Given the description of an element on the screen output the (x, y) to click on. 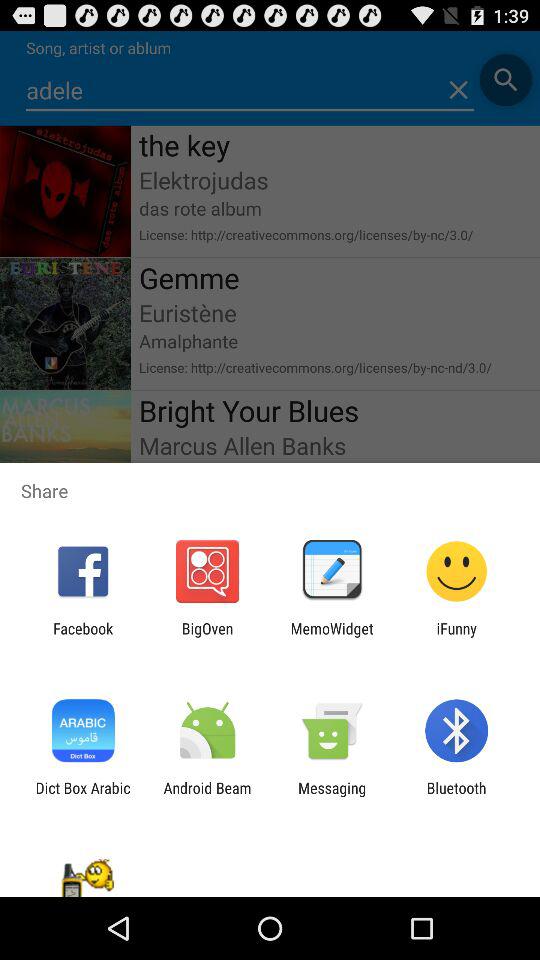
scroll until bigoven app (207, 637)
